Given the description of an element on the screen output the (x, y) to click on. 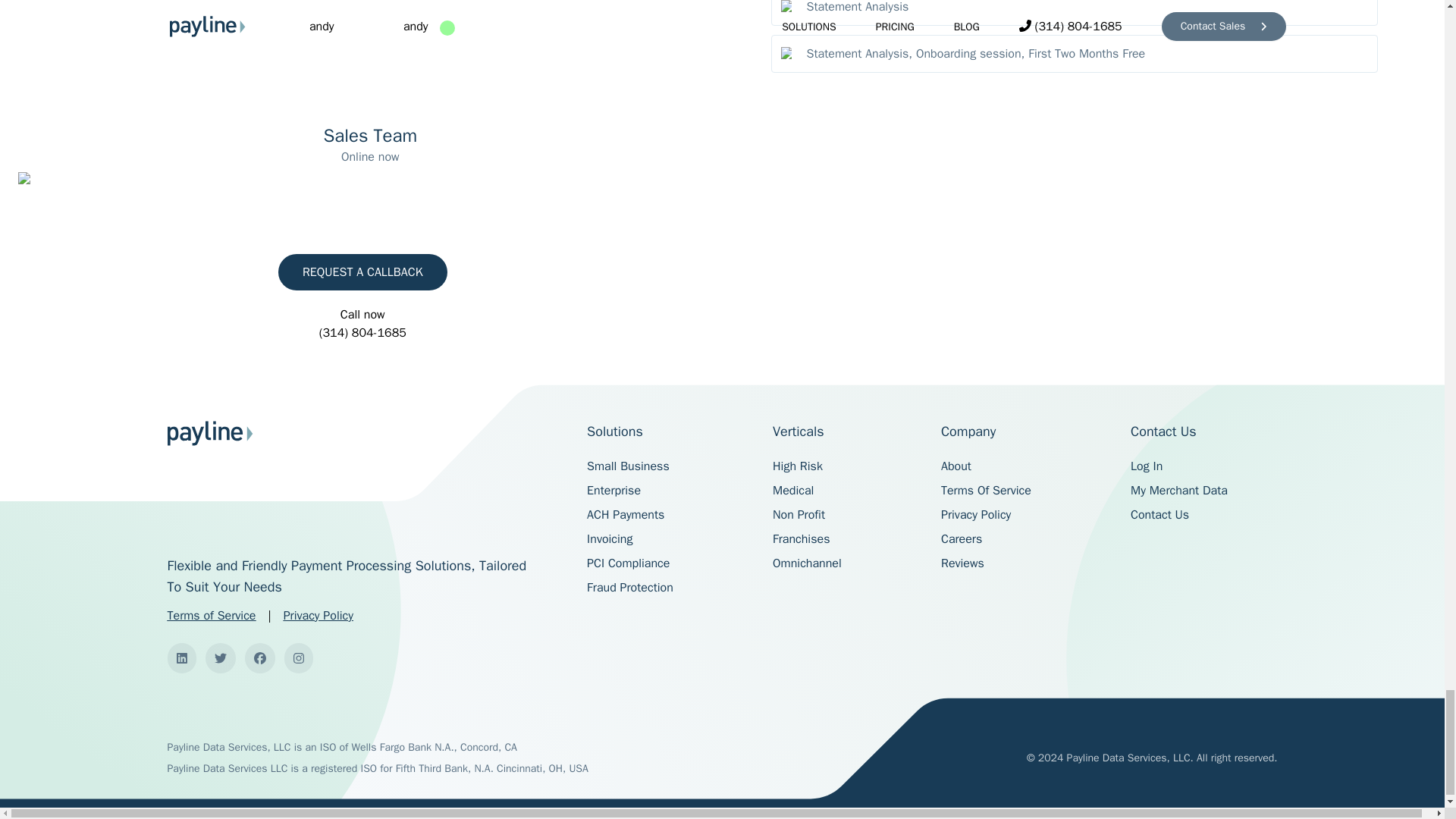
ACH Payments (624, 514)
Small Business (627, 466)
Privacy Policy (318, 615)
Terms of Service (211, 615)
Enterprise (613, 490)
REQUEST A CALLBACK (362, 272)
PCI Compliance (627, 563)
Invoicing (608, 539)
Fraud Protection (629, 587)
REQUEST A CALLBACK (362, 271)
